Given the description of an element on the screen output the (x, y) to click on. 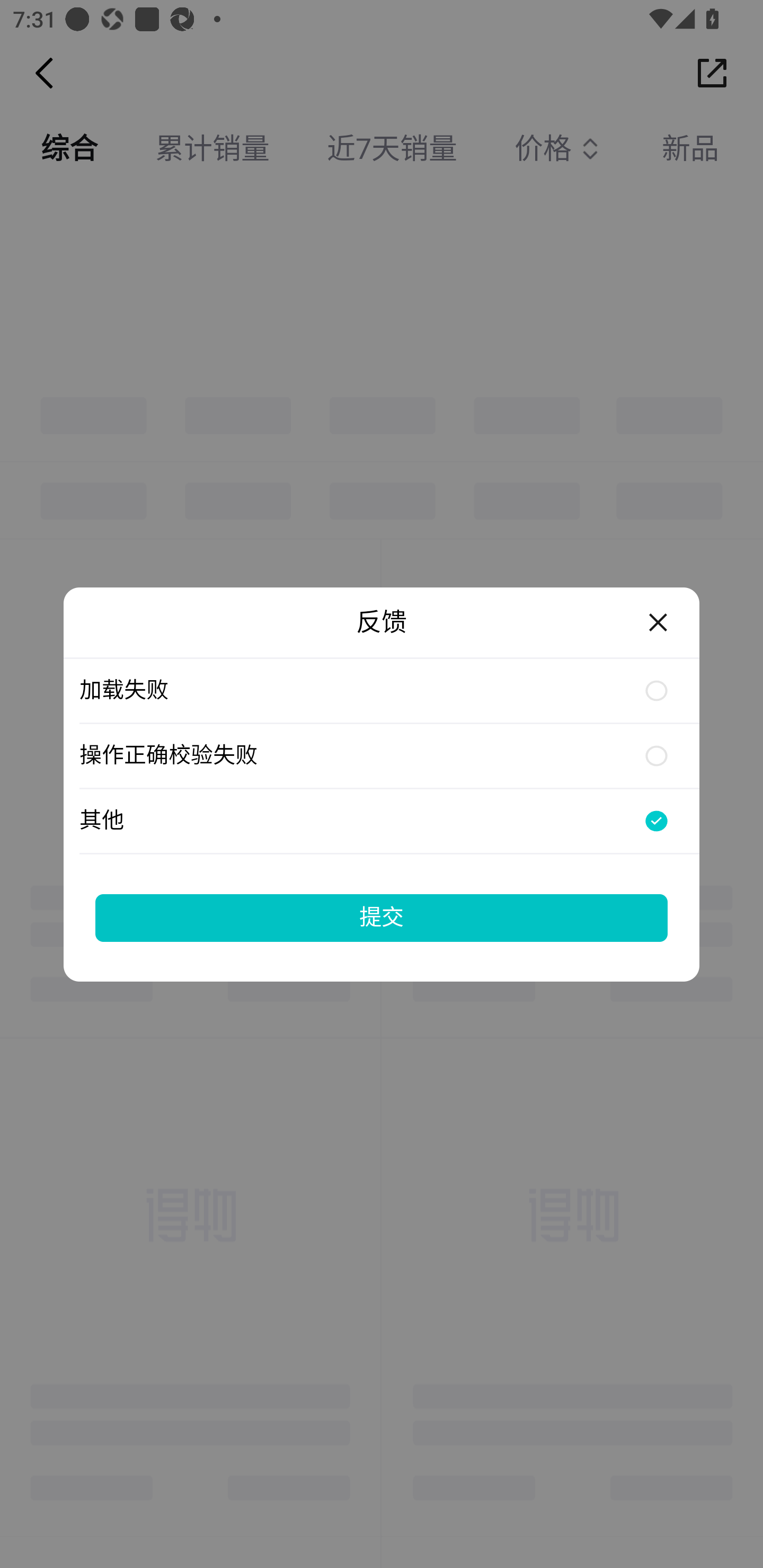
提交 (381, 917)
